Given the description of an element on the screen output the (x, y) to click on. 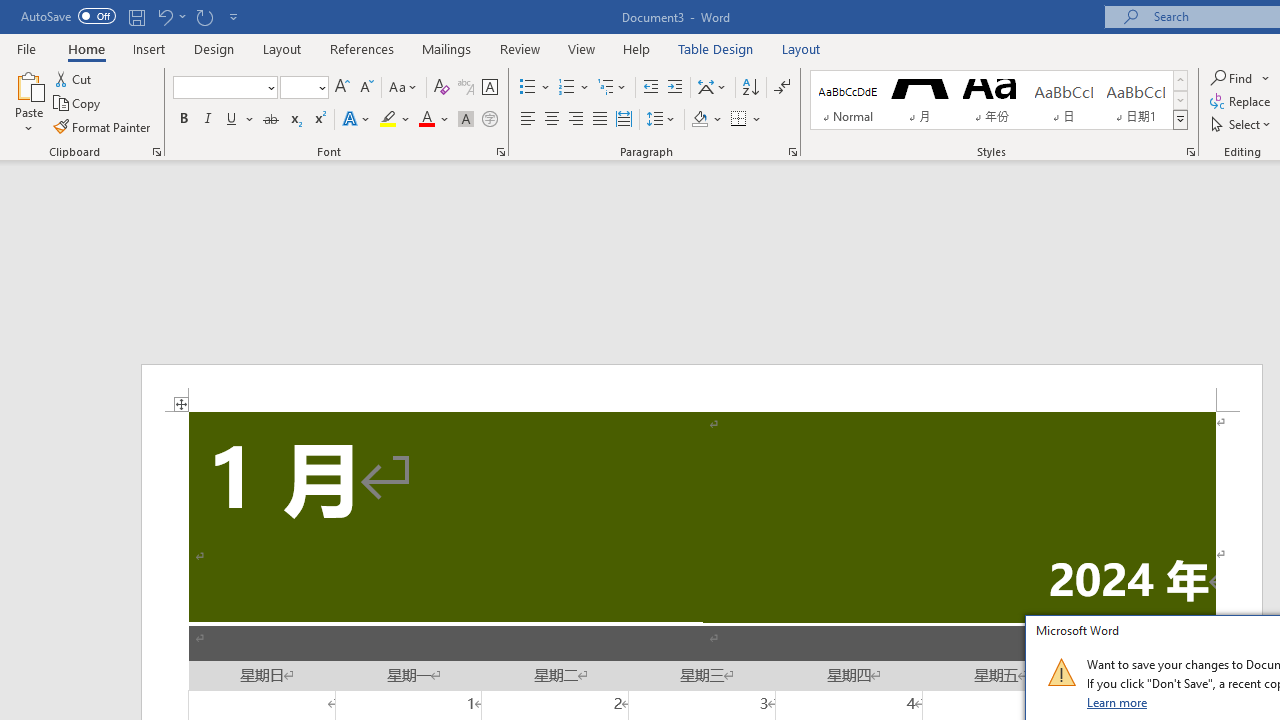
Row Down (1179, 100)
Increase Indent (675, 87)
Grow Font (342, 87)
Undo Apply Quick Style (170, 15)
Character Shading (465, 119)
